Given the description of an element on the screen output the (x, y) to click on. 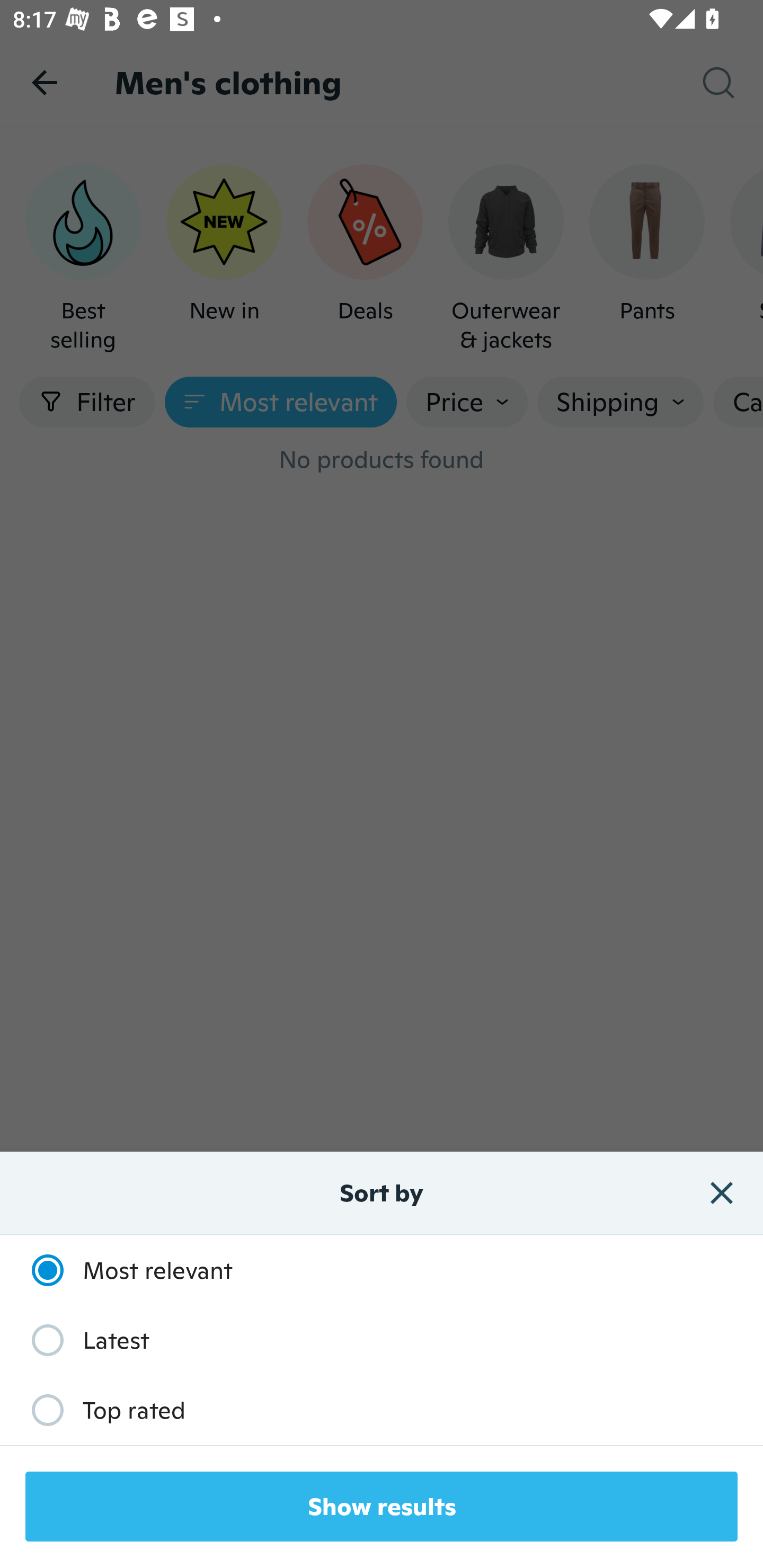
Most relevant (122, 1269)
Latest (81, 1339)
Top rated (99, 1410)
Show results (381, 1506)
